Given the description of an element on the screen output the (x, y) to click on. 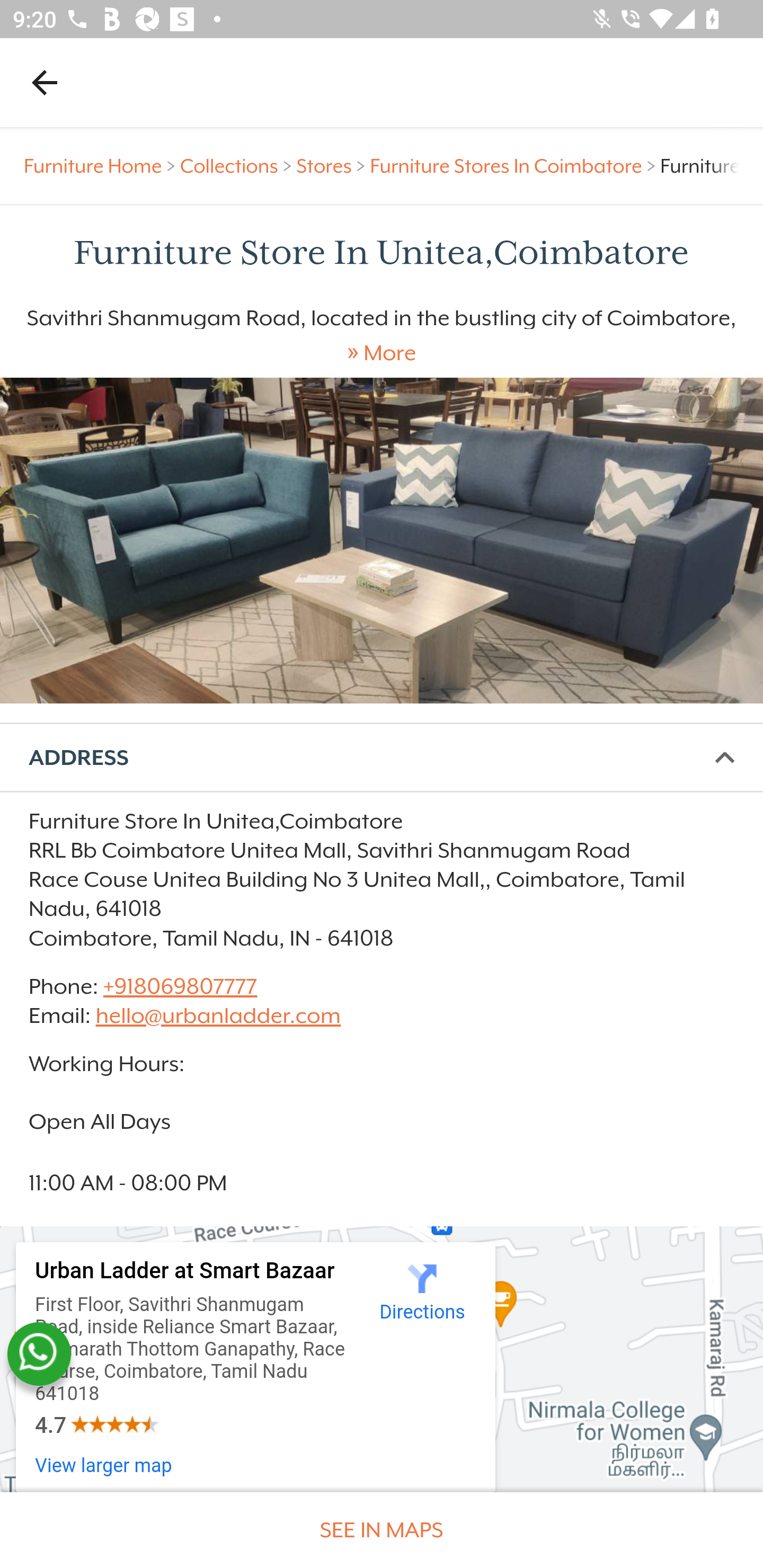
Navigate up (44, 82)
Furniture Home >  Furniture Home  >  (102, 165)
Collections >  Collections  >  (238, 165)
Stores >  Stores  >  (333, 165)
» More (381, 353)
Experience Centre (381, 540)
ADDRESS (381, 757)
+918069807777 (179, 986)
hello@urbanladder.com (218, 1016)
whatsapp (38, 1353)
View larger map (104, 1465)
SEE IN MAPS (381, 1530)
